Given the description of an element on the screen output the (x, y) to click on. 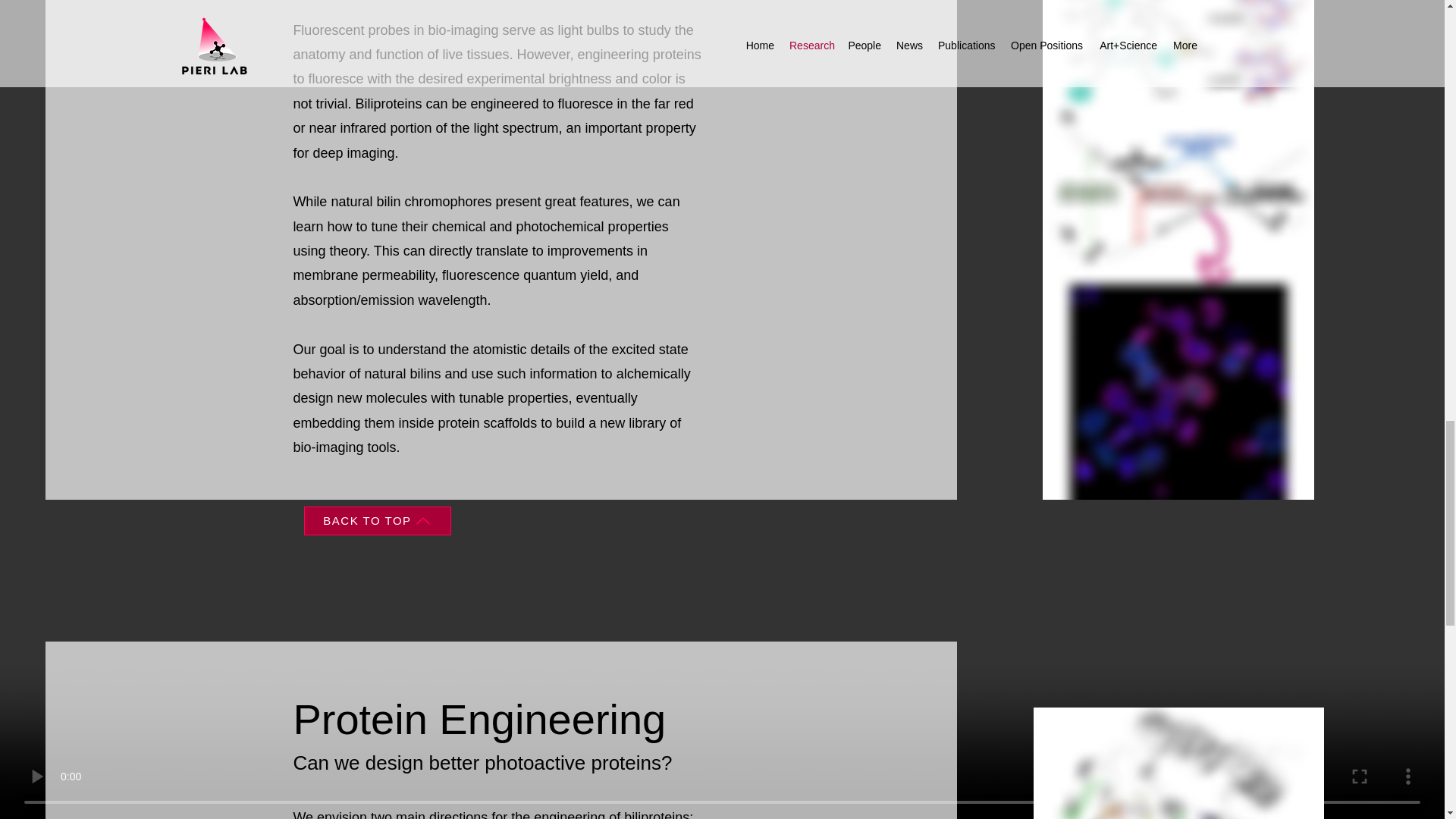
BACK TO TOP (375, 520)
